Given the description of an element on the screen output the (x, y) to click on. 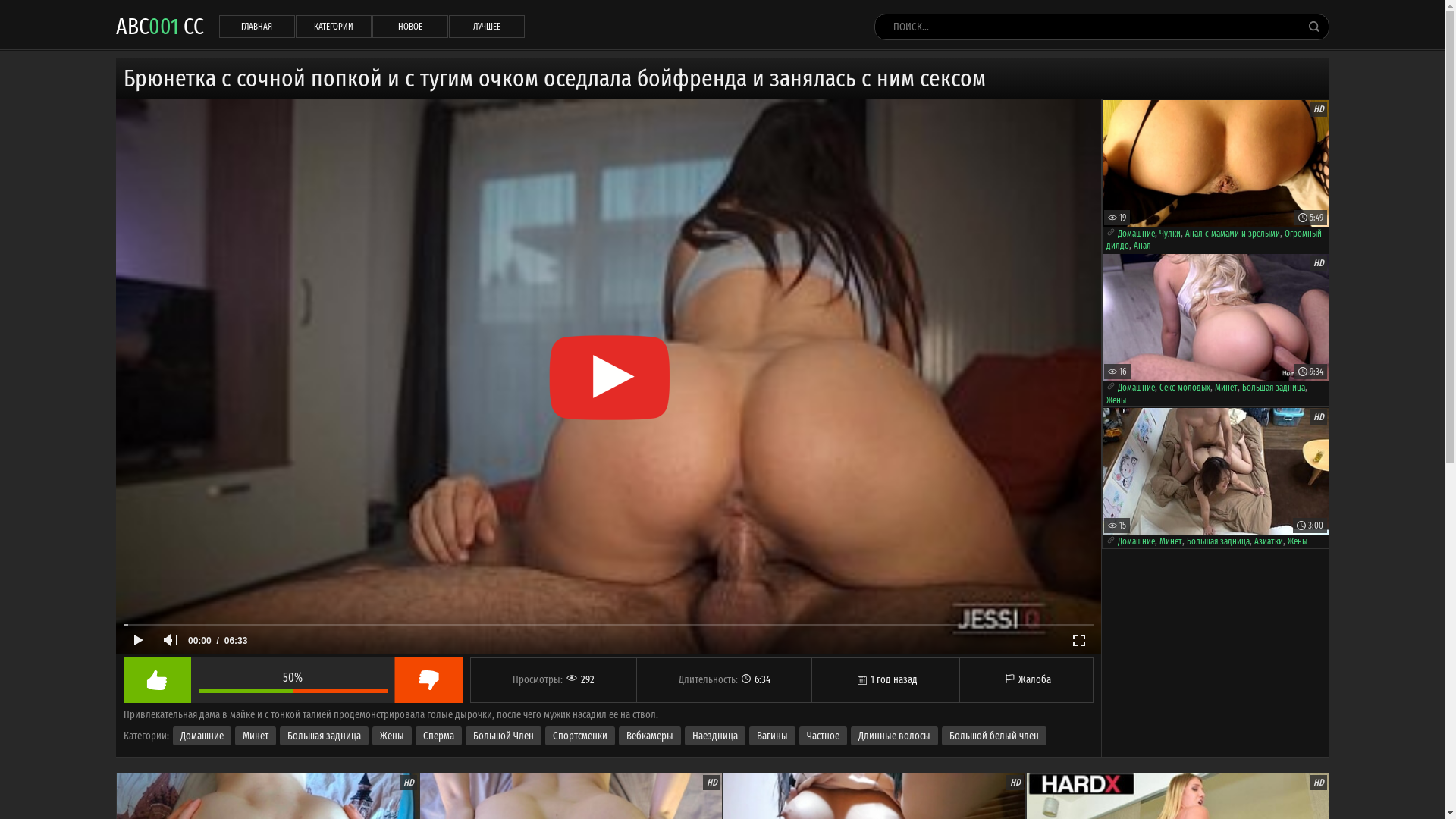
ABC001 CC Element type: text (159, 25)
HD
5:49
19 Element type: text (1215, 163)
HD
3:00
15 Element type: text (1215, 471)
HD
9:34
16 Element type: text (1215, 317)
